Given the description of an element on the screen output the (x, y) to click on. 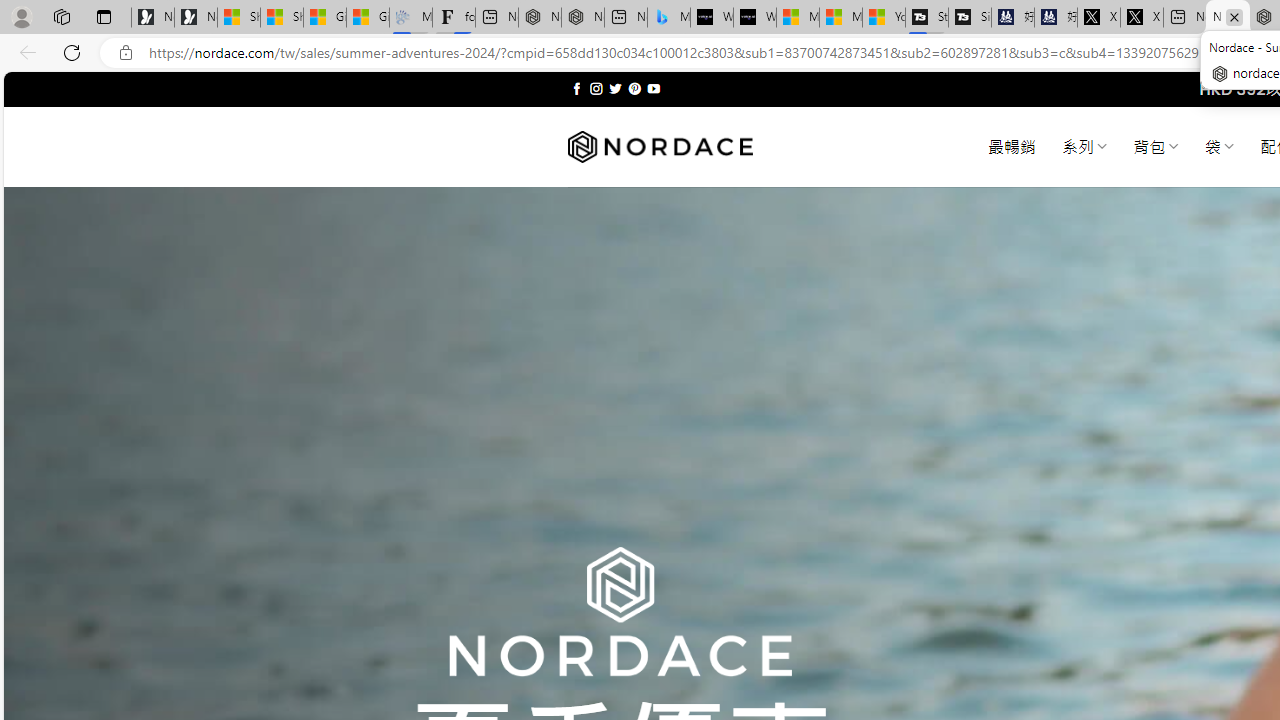
Streaming Coverage | T3 (927, 17)
Microsoft Bing Travel - Shangri-La Hotel Bangkok (668, 17)
Follow on Twitter (615, 88)
